Given the description of an element on the screen output the (x, y) to click on. 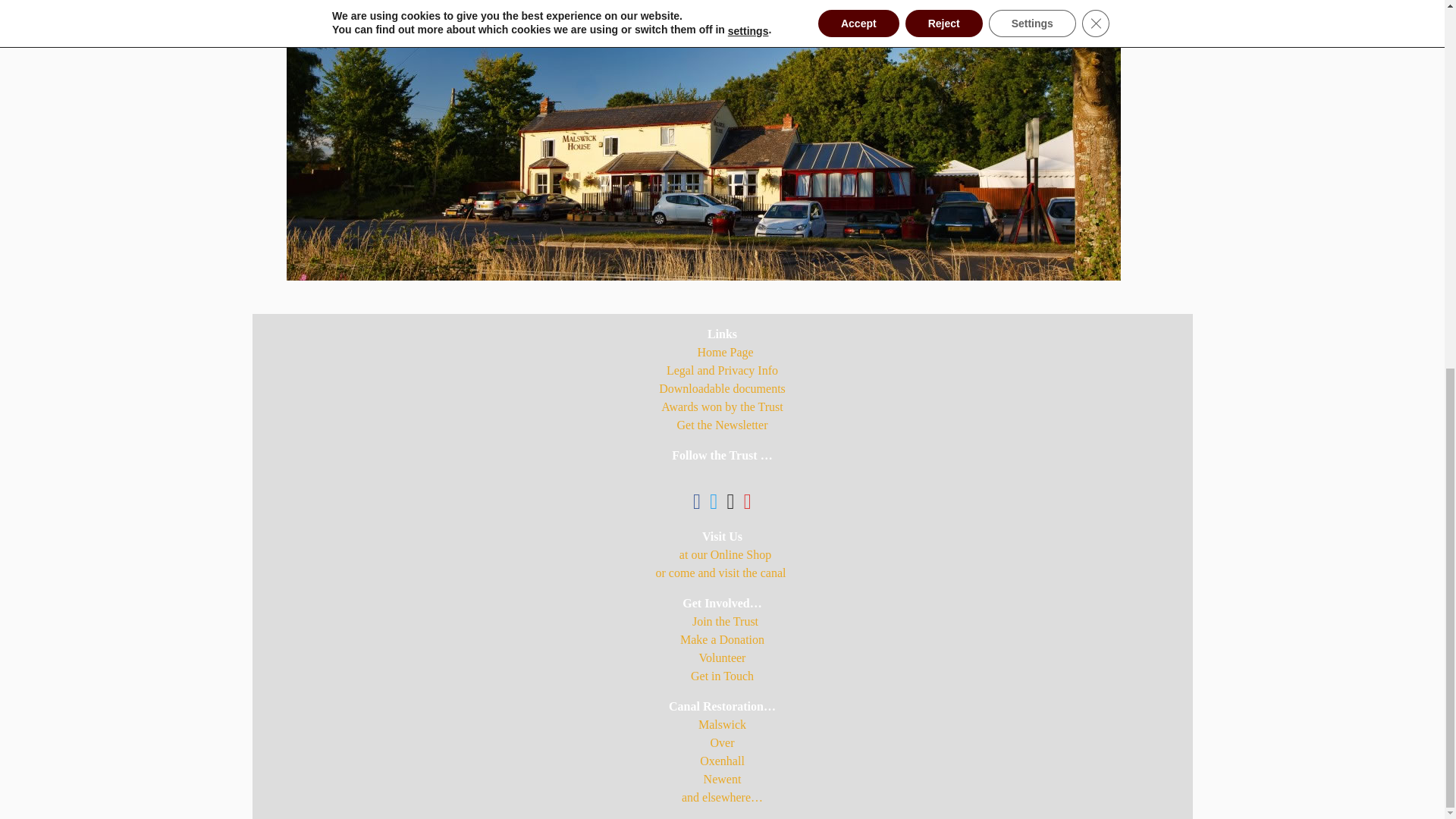
Facebook (696, 504)
